Given the description of an element on the screen output the (x, y) to click on. 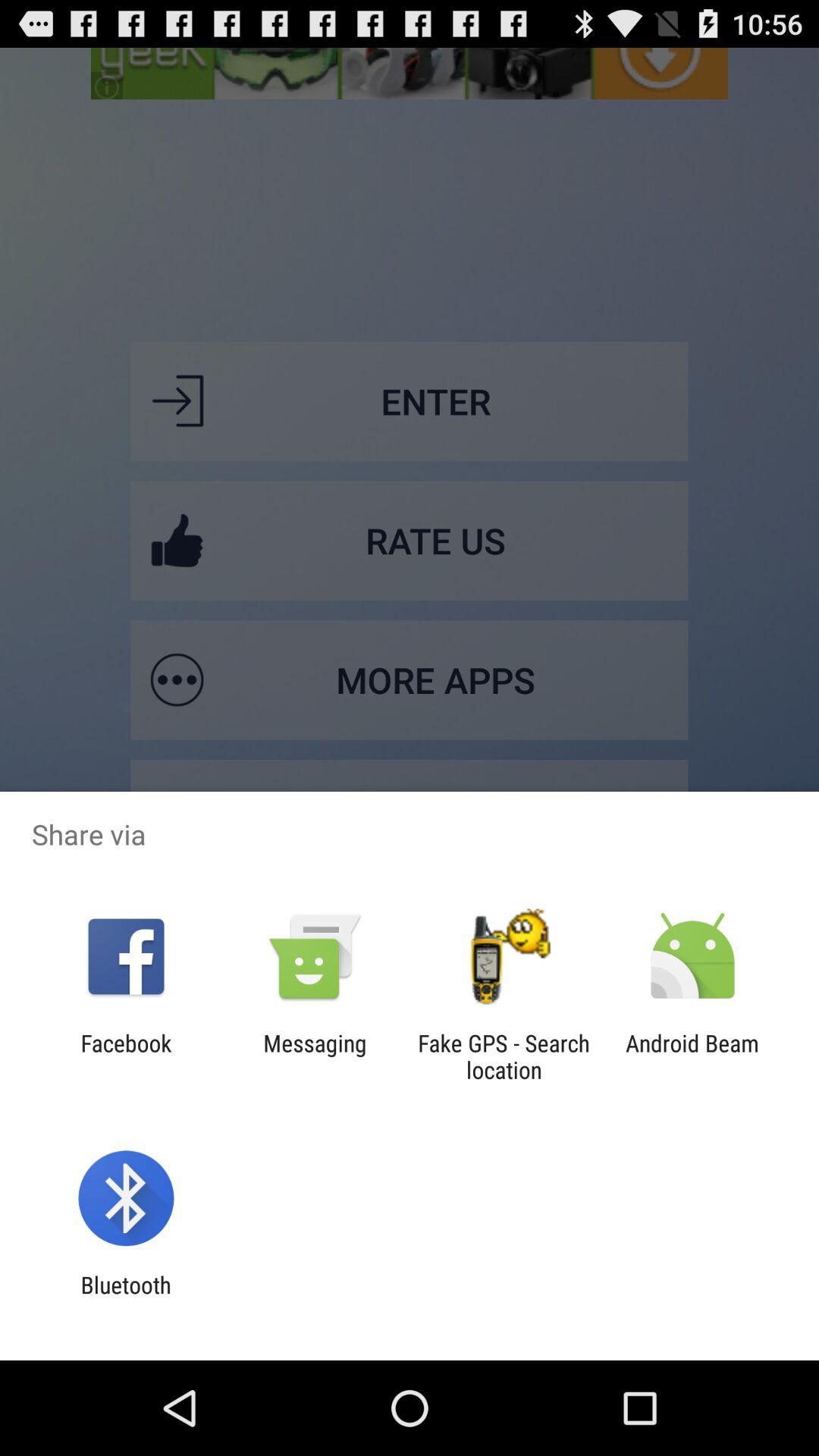
press item next to messaging app (503, 1056)
